Given the description of an element on the screen output the (x, y) to click on. 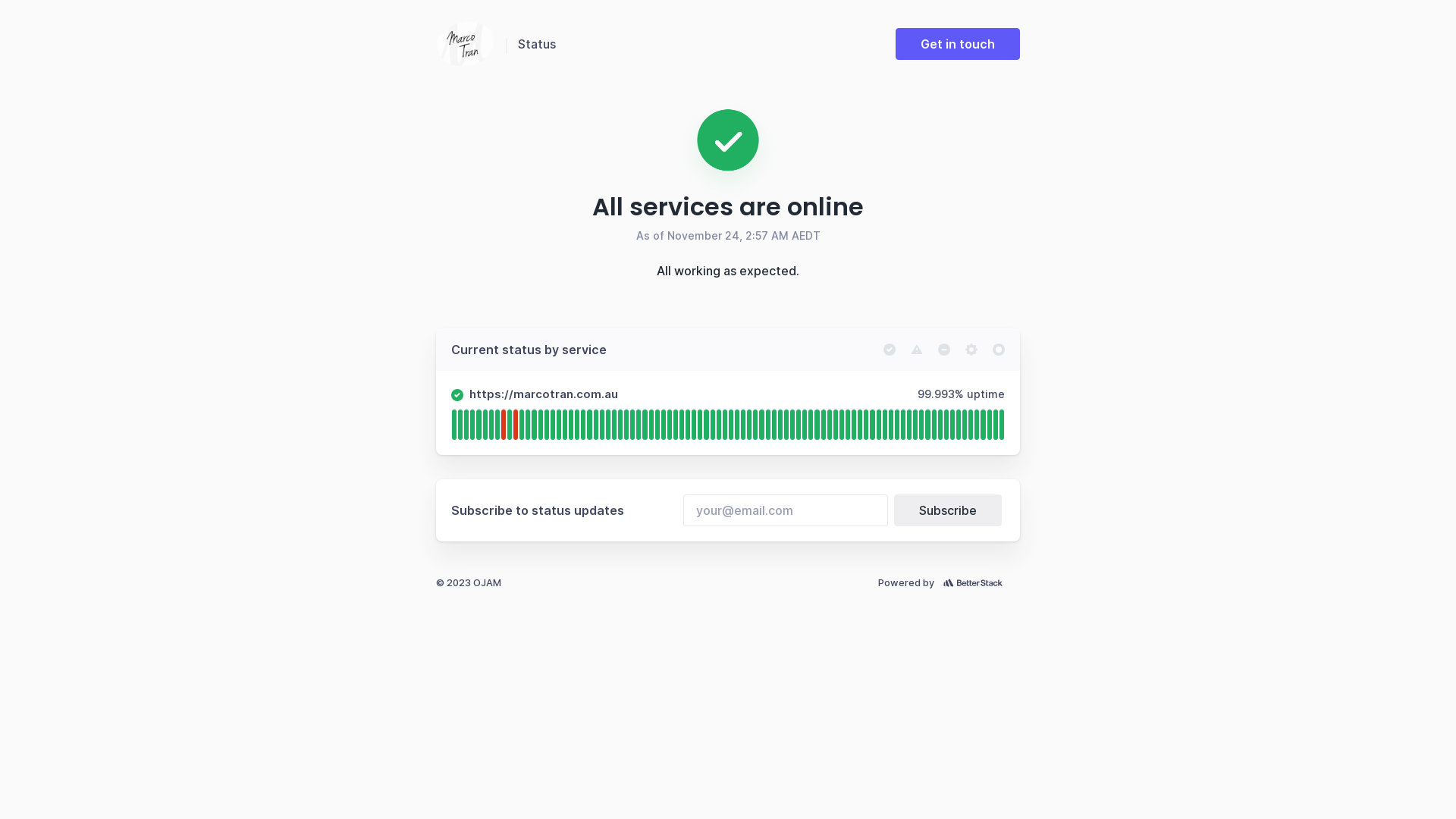
Better Stack Element type: text (976, 582)
Subscribe Element type: text (947, 510)
Status Element type: text (536, 43)
Get in touch Element type: text (957, 43)
